Given the description of an element on the screen output the (x, y) to click on. 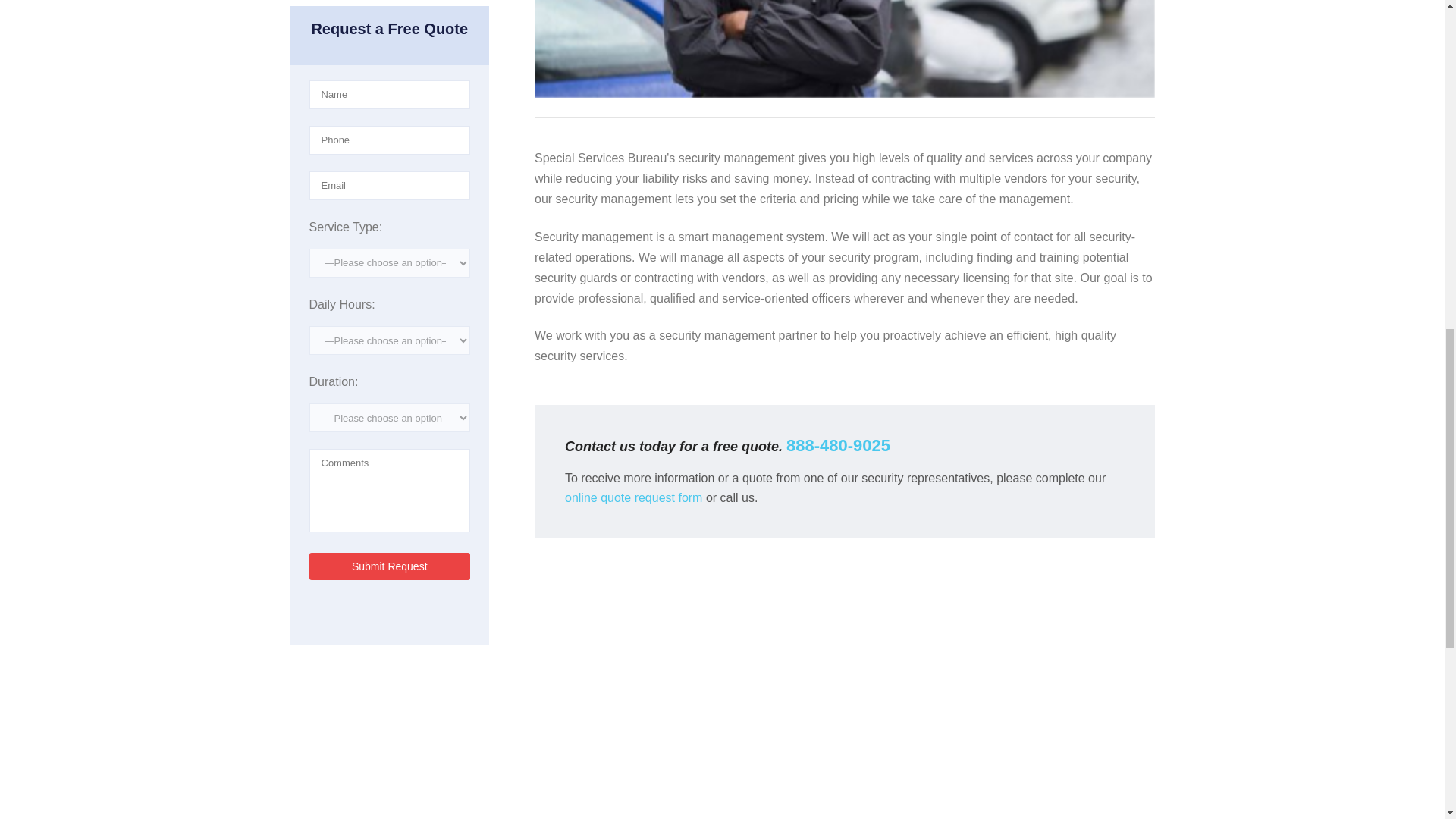
888-480-9025 (837, 445)
Submit Request (389, 565)
Submit Request (389, 565)
online quote request form (632, 497)
